Given the description of an element on the screen output the (x, y) to click on. 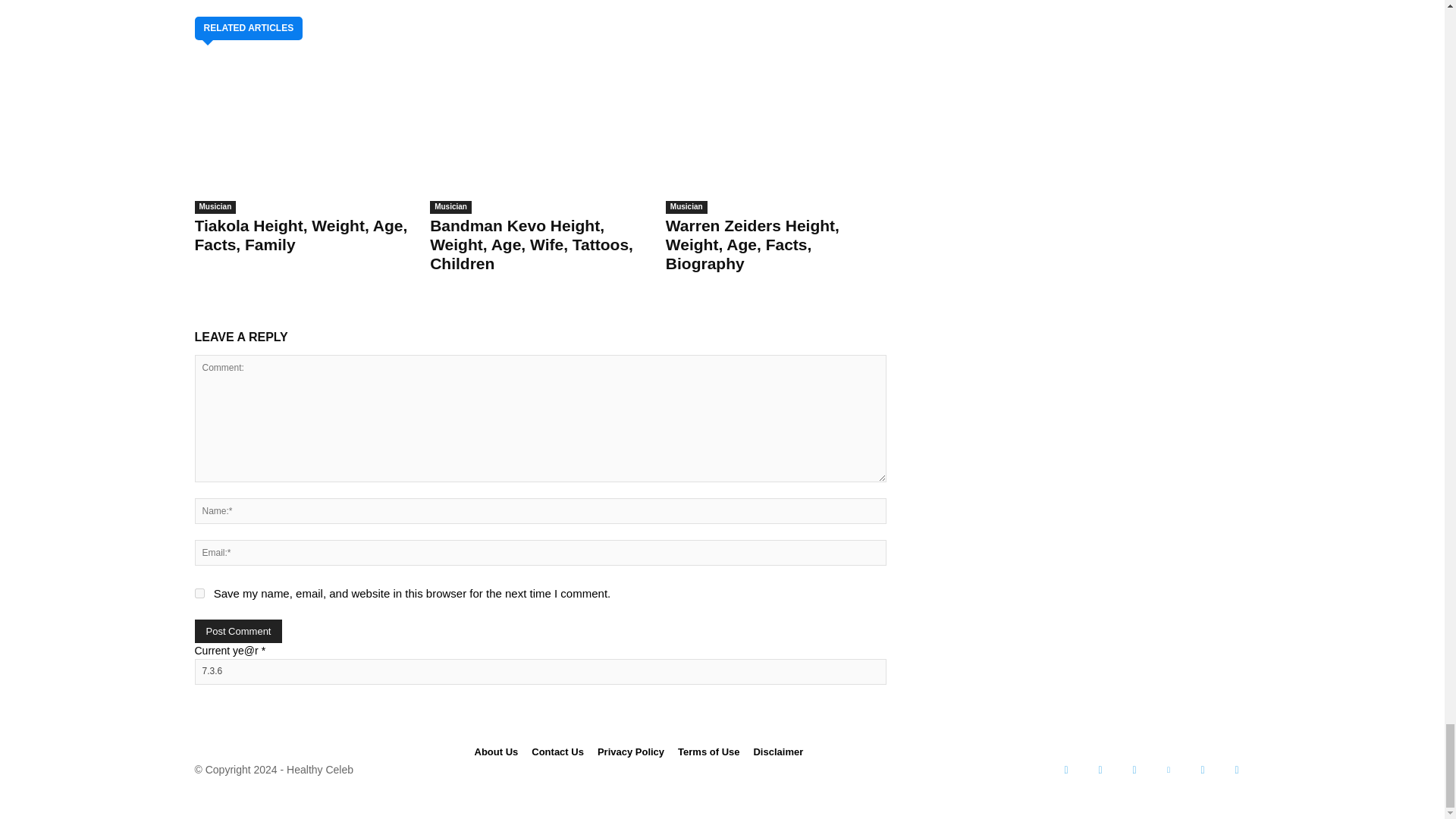
Post Comment (237, 630)
yes (198, 593)
7.3.6 (539, 671)
